Given the description of an element on the screen output the (x, y) to click on. 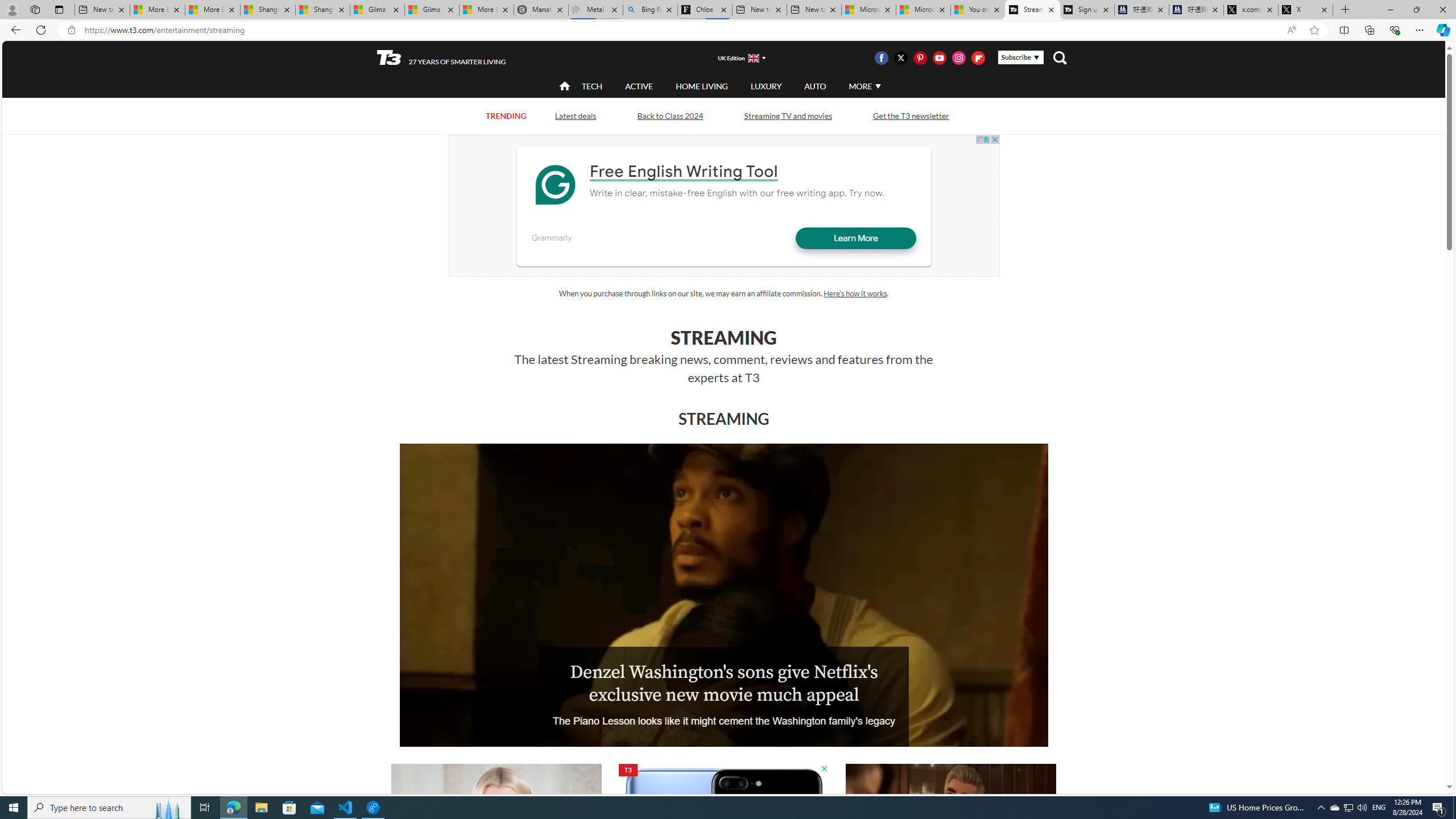
Shanghai, China weather forecast | Microsoft Weather (323, 9)
UK Edition (736, 57)
Get the T3 newsletter (911, 115)
Microsoft Start Sports (869, 9)
Visit us on Twitter (900, 57)
MORE  (863, 86)
HOME LIVING (701, 86)
